Given the description of an element on the screen output the (x, y) to click on. 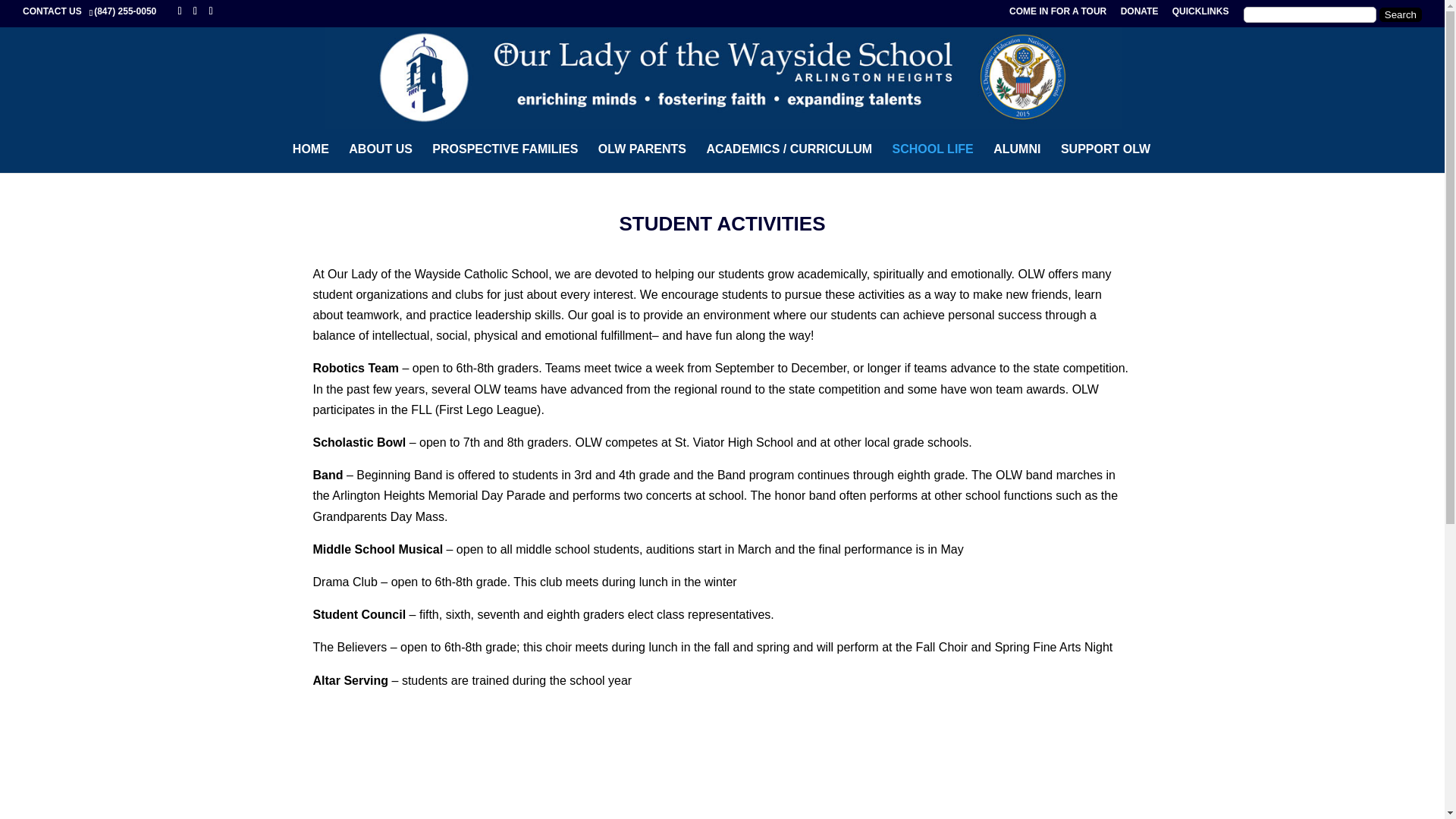
HOME (310, 158)
COME IN FOR A TOUR (1057, 14)
QUICKLINKS (1200, 14)
PROSPECTIVE FAMILIES (505, 155)
Search (1400, 14)
ABOUT US (380, 155)
DONATE (1139, 14)
CONTACT US   (54, 10)
OLW PARENTS (641, 155)
Search (1400, 14)
